Given the description of an element on the screen output the (x, y) to click on. 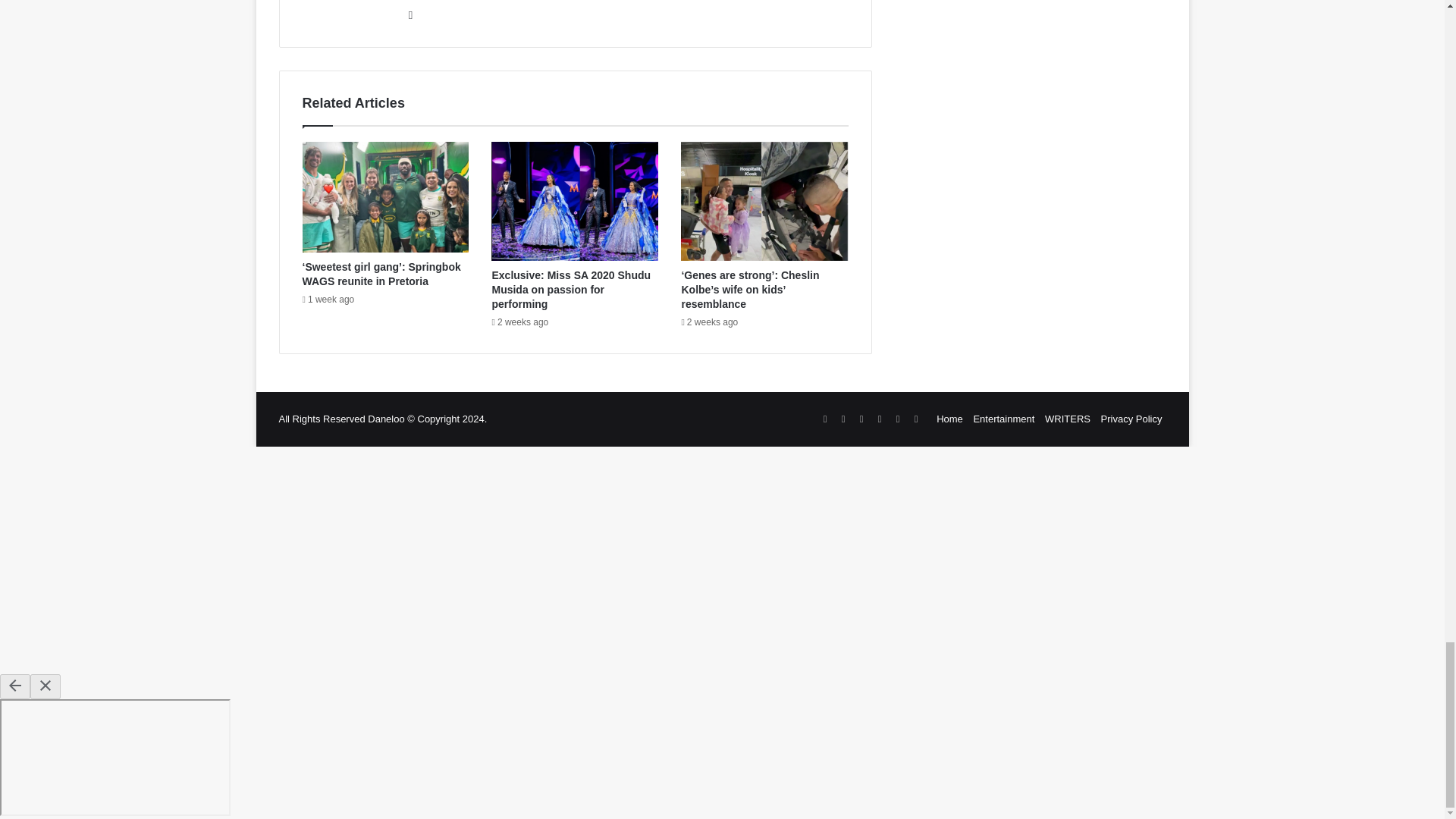
Facebook (410, 14)
